Given the description of an element on the screen output the (x, y) to click on. 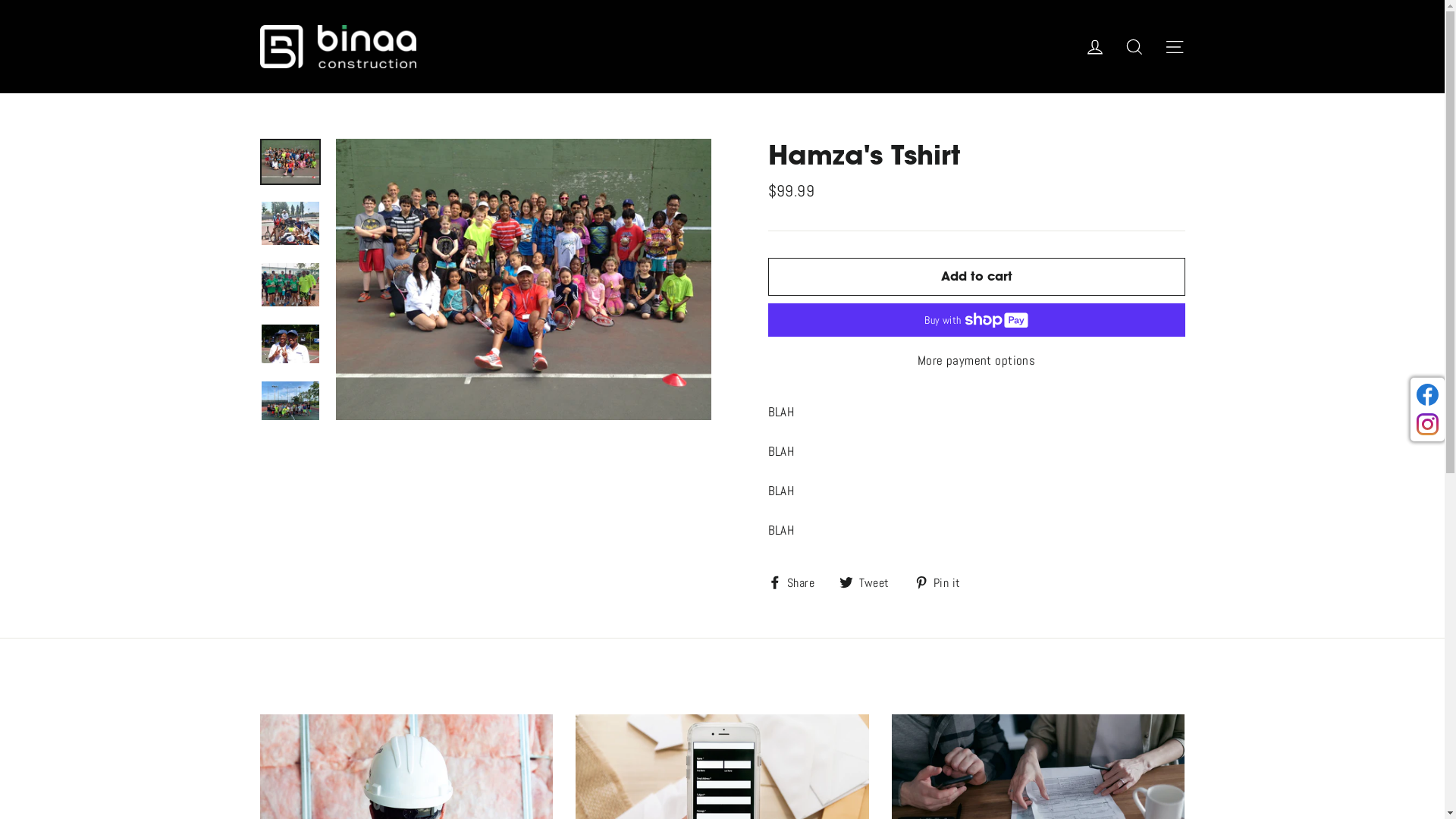
Share
Share on Facebook Element type: text (796, 582)
Skip to content Element type: text (0, 0)
Add to cart Element type: text (975, 276)
More payment options Element type: text (975, 360)
Pin it
Pin on Pinterest Element type: text (943, 582)
Log in Element type: text (1094, 46)
Site navigation Element type: text (1173, 46)
Tweet
Tweet on Twitter Element type: text (869, 582)
Search Element type: text (1134, 46)
